Given the description of an element on the screen output the (x, y) to click on. 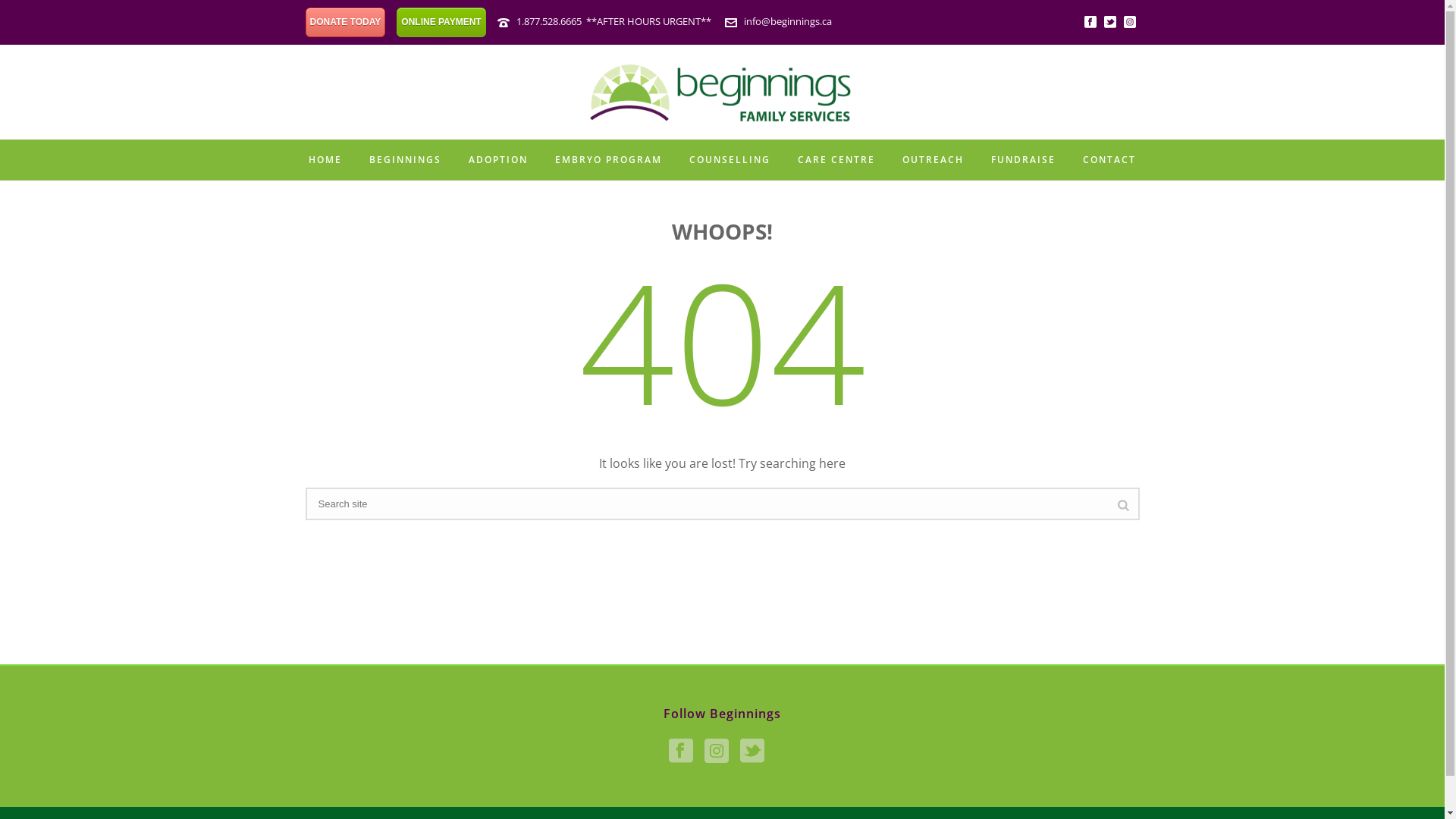
HOME Element type: text (324, 160)
1.877.528.6665 Element type: text (548, 21)
ADOPTION Element type: text (498, 160)
Beginnings Family Services Element type: hover (721, 91)
EMBRYO PROGRAM Element type: text (608, 160)
OUTREACH Element type: text (932, 160)
Follow Us on twitter Element type: hover (752, 751)
CONTACT Element type: text (1109, 160)
BEGINNINGS Element type: text (405, 160)
Follow Us on instagram Element type: hover (716, 751)
DONATE TODAY Element type: text (344, 22)
COUNSELLING Element type: text (729, 160)
Beginnings Family Services Element type: hover (721, 92)
FUNDRAISE Element type: text (1023, 160)
info@beginnings.ca Element type: text (787, 21)
CARE CENTRE Element type: text (836, 160)
ONLINE PAYMENT Element type: text (440, 22)
Follow Us on facebook Element type: hover (680, 751)
